Given the description of an element on the screen output the (x, y) to click on. 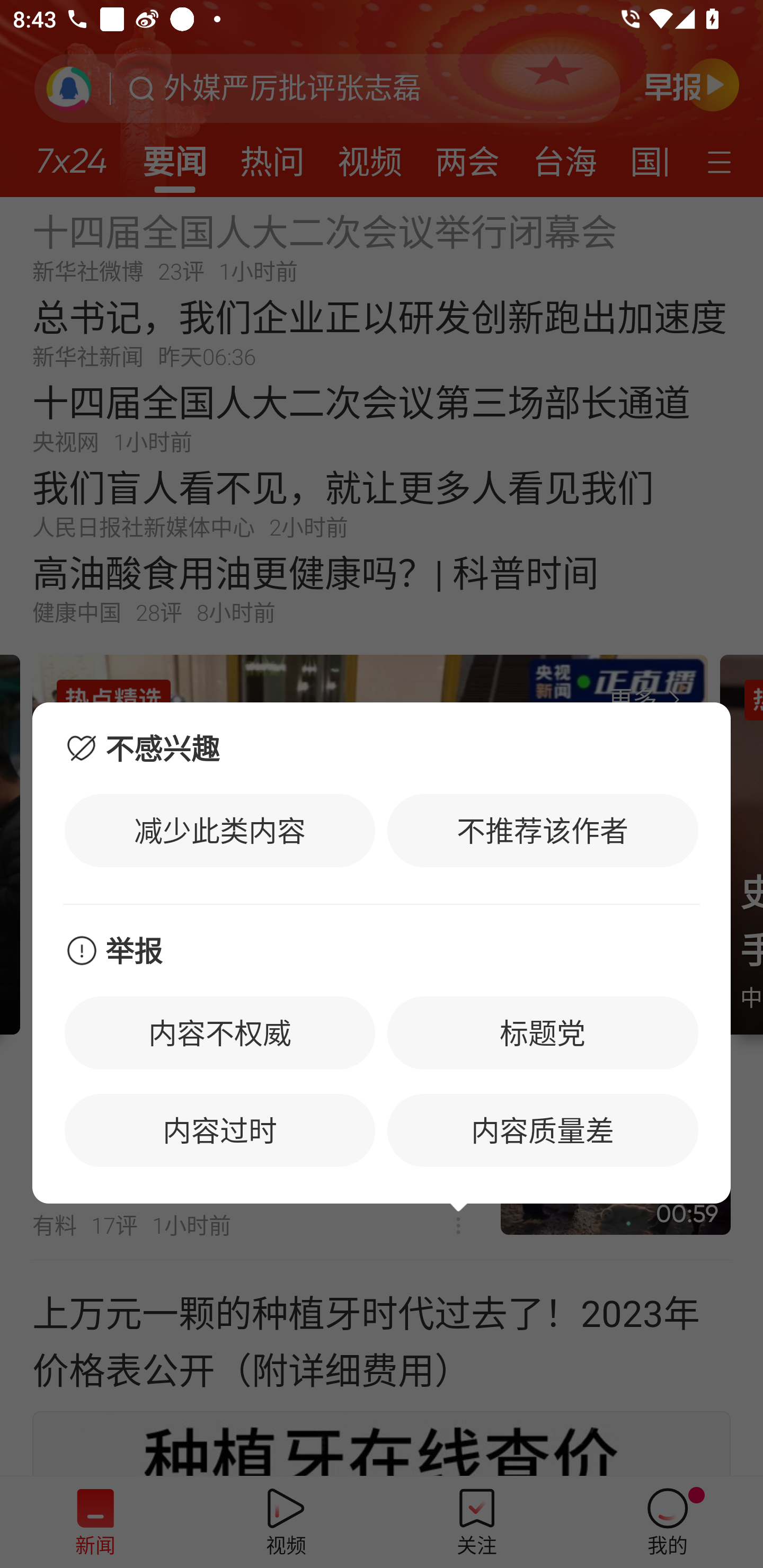
减少此类内容 (219, 830)
不推荐该作者 (542, 830)
内容不权威 (219, 1032)
标题党 (542, 1032)
内容过时 (219, 1130)
内容质量差 (542, 1130)
